Given the description of an element on the screen output the (x, y) to click on. 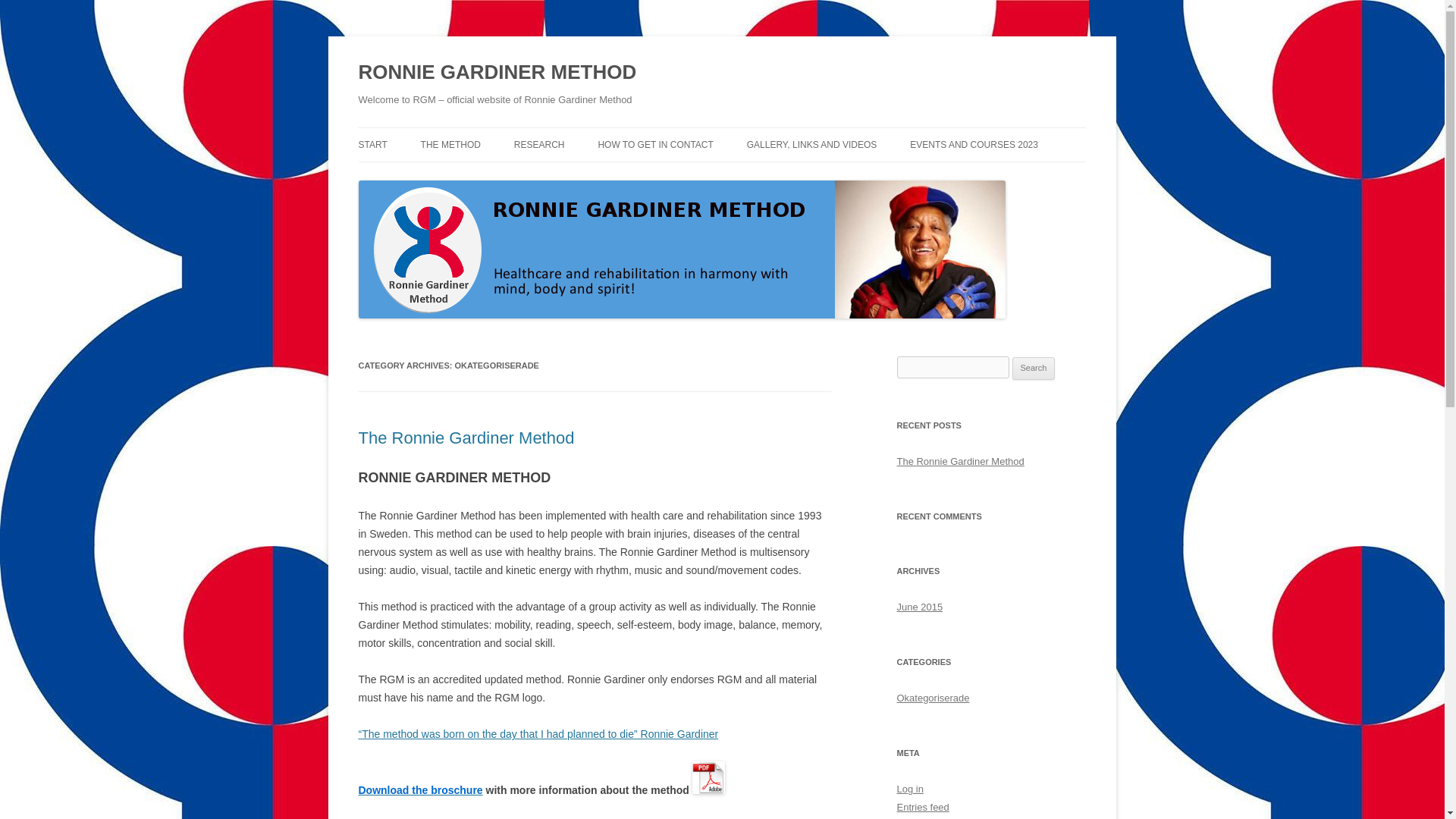
GALLERY, LINKS AND VIDEOS (811, 144)
RONNIE GARDINER METHOD (497, 72)
RESEARCH (538, 144)
EVENTS AND COURSES 2023 (974, 144)
The Ronnie Gardiner Method (465, 437)
HOW TO GET IN CONTACT (654, 144)
Search (1033, 368)
INTERNATIONAL RGM FACILITATORS (672, 185)
HOW IT ALL BEGAN (496, 176)
